Given the description of an element on the screen output the (x, y) to click on. 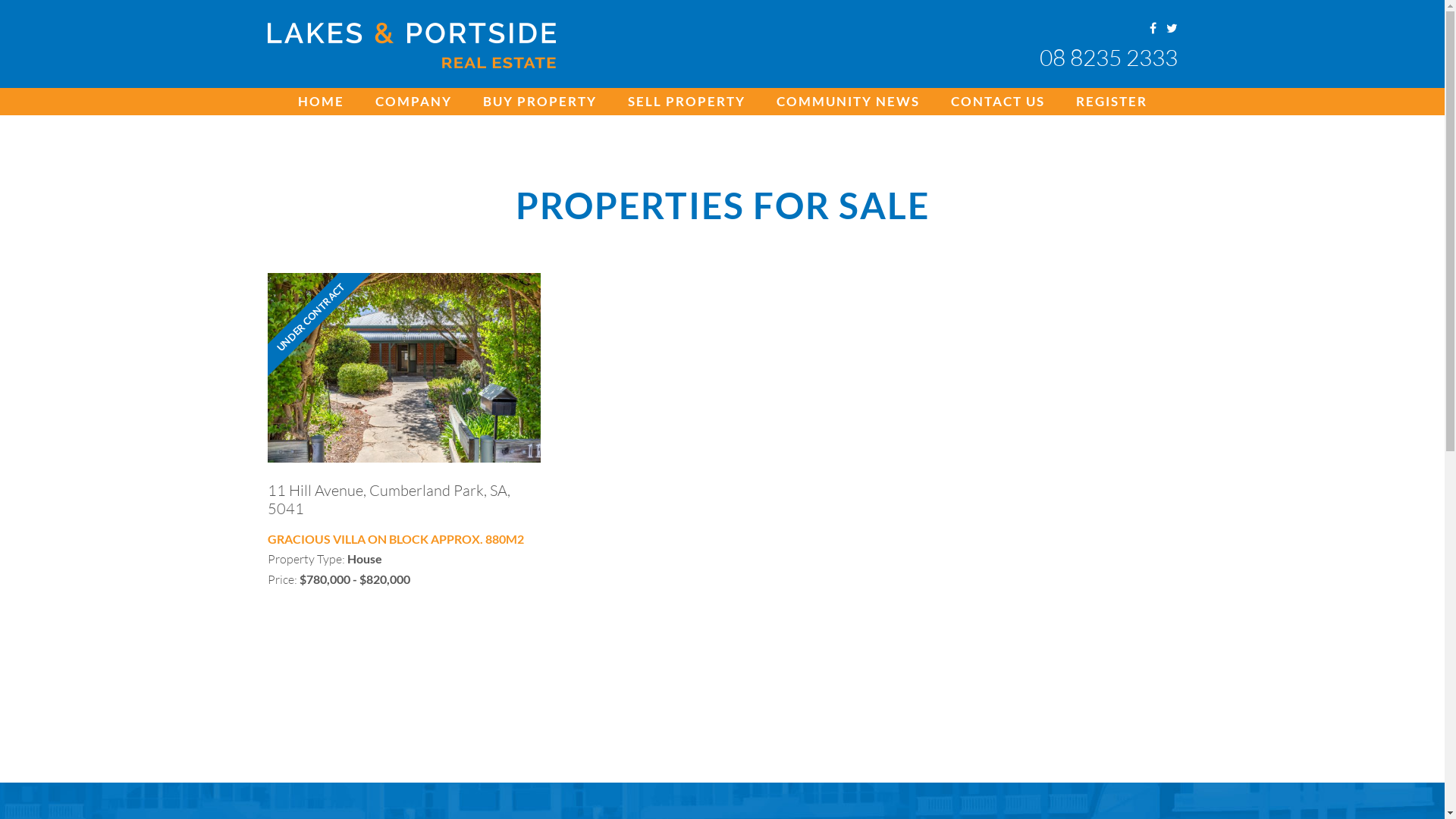
REGISTER Element type: text (1110, 101)
BUY PROPERTY Element type: text (538, 101)
11 Hill Avenue, Cumberland Park, SA, 5041 Element type: text (387, 498)
HOME Element type: text (320, 101)
COMMUNITY NEWS Element type: text (847, 101)
SELL PROPERTY Element type: text (686, 101)
COMPANY Element type: text (412, 101)
UNDER CONTRACT Element type: text (402, 367)
CONTACT US Element type: text (997, 101)
